Given the description of an element on the screen output the (x, y) to click on. 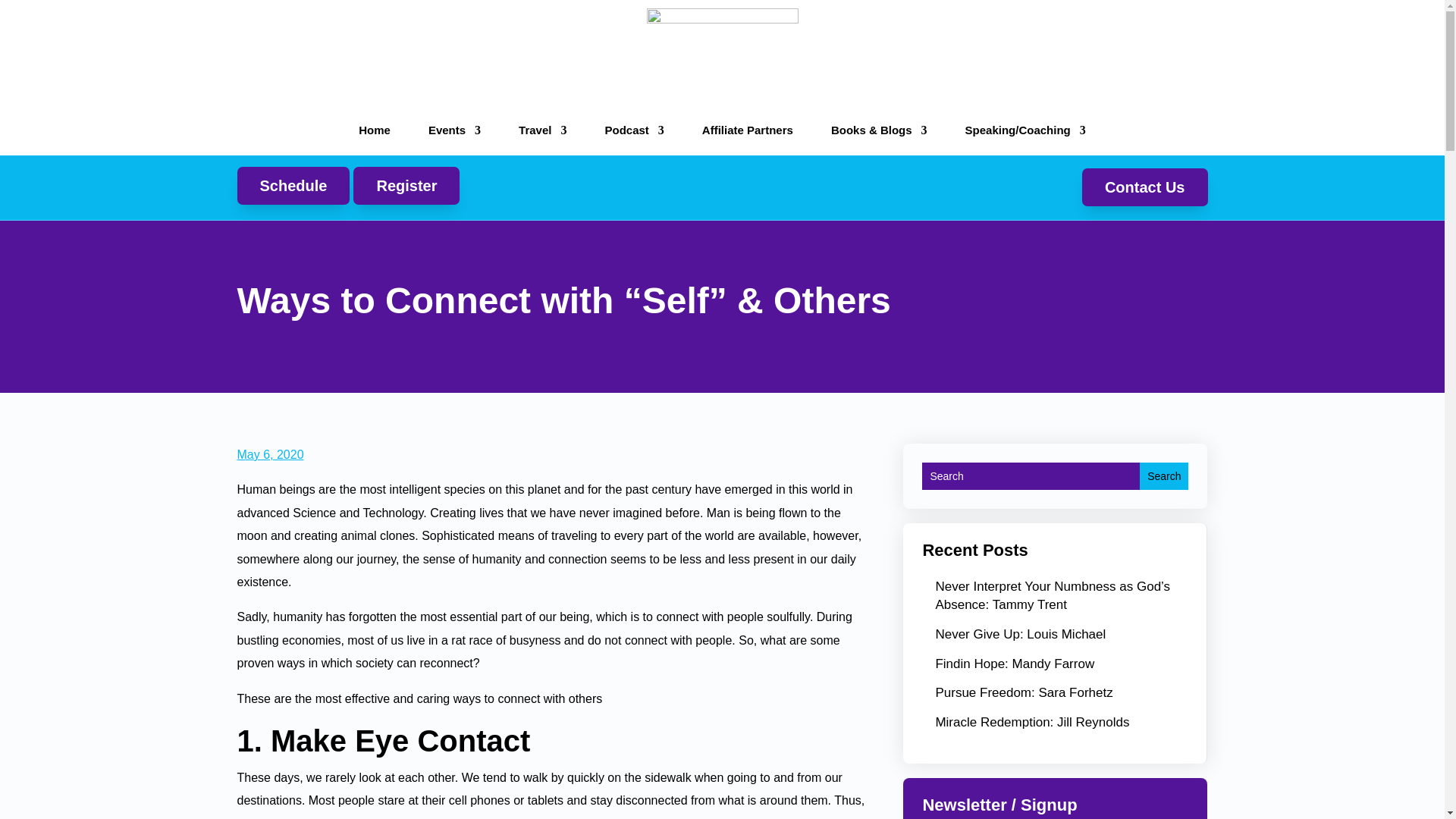
Travel (542, 130)
Contact Us (1144, 187)
Podcast (633, 130)
Search (1164, 475)
Register (406, 185)
Search (1164, 475)
Never Give Up: Louis Michael (1019, 634)
May 6, 2020 (268, 454)
Home (374, 130)
Schedule (293, 185)
